Given the description of an element on the screen output the (x, y) to click on. 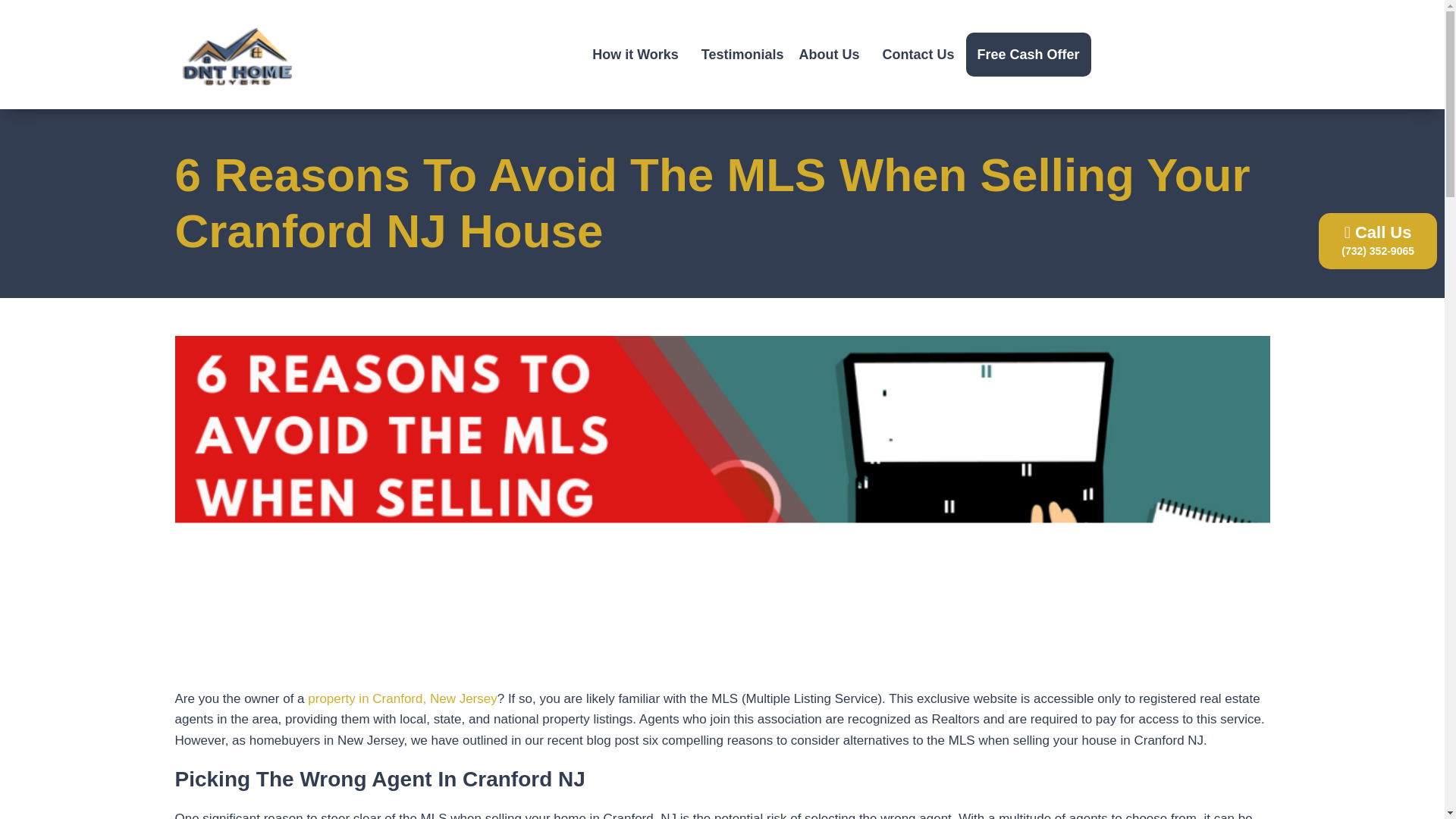
About Us (833, 53)
Contact Us (918, 53)
Testimonials (743, 53)
Free Cash Offer (1028, 53)
How it Works (639, 53)
property in Cranford, New Jersey (401, 698)
